Given the description of an element on the screen output the (x, y) to click on. 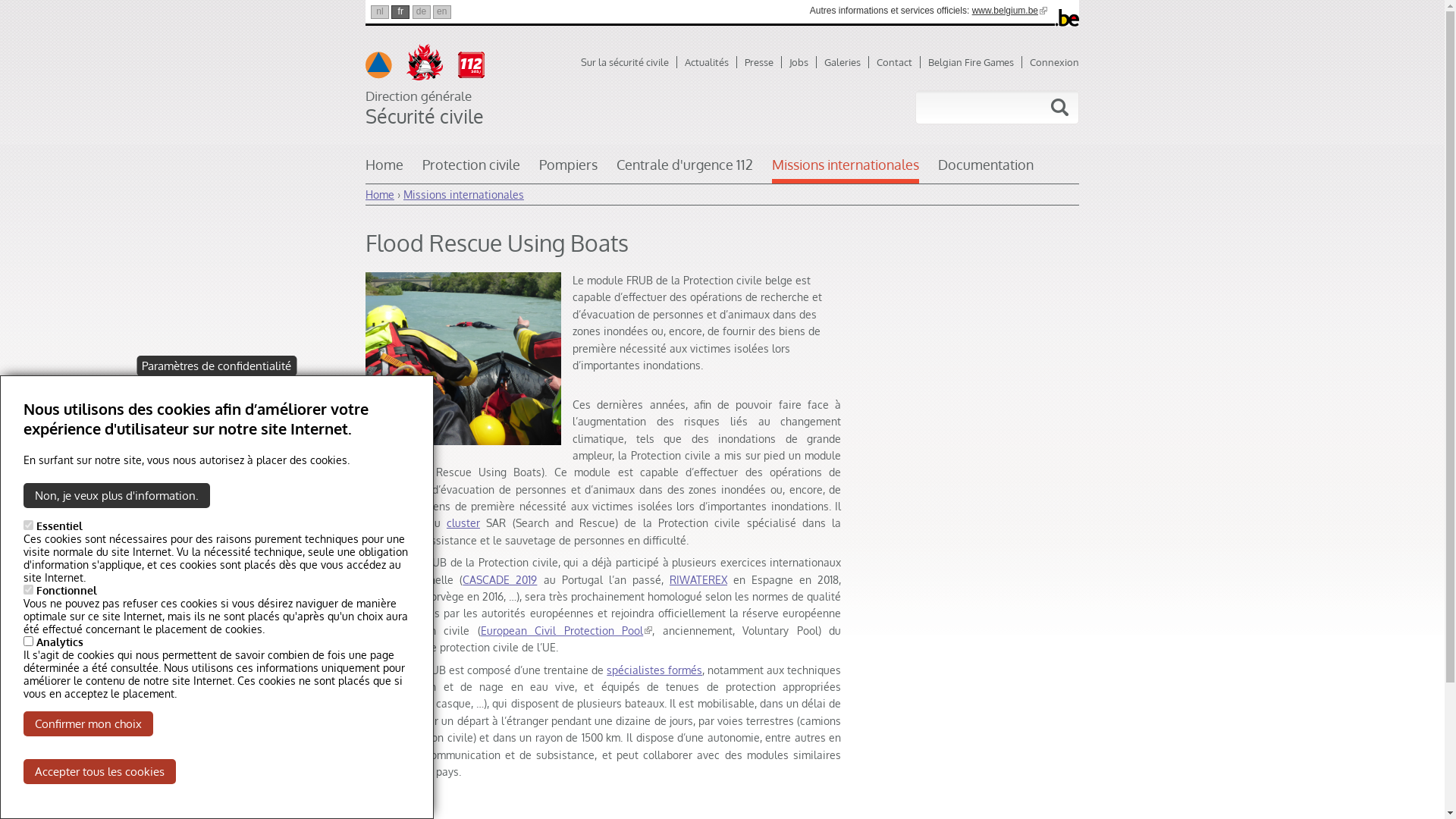
Home Element type: text (384, 169)
Rechercher Element type: text (1059, 107)
Contact Element type: text (898, 62)
CASCADE 2019 Element type: text (499, 579)
cluster Element type: text (463, 522)
Accepter tous les cookies Element type: text (99, 771)
Jobs Element type: text (802, 62)
TRIPLEX Element type: text (384, 595)
Connexion Element type: text (1054, 62)
www.belgium.be
(link is external) Element type: text (1009, 10)
Documentation Element type: text (985, 169)
Centrale d'urgence 112 Element type: text (684, 169)
Confirmer mon choix Element type: text (88, 723)
RIWATEREX Element type: text (698, 579)
Home Element type: text (379, 194)
European Civil Protection Pool
(link is external) Element type: text (566, 630)
en Element type: text (442, 11)
Presse Element type: text (762, 62)
Belgian Fire Games Element type: text (975, 62)
Galeries Element type: text (846, 62)
Missions internationales Element type: text (463, 194)
Missions internationales Element type: text (845, 169)
nl Element type: text (379, 11)
fr Element type: text (400, 11)
Pompiers Element type: text (568, 169)
de Element type: text (421, 11)
Saisissez les termes que vous voulez rechercher. Element type: hover (965, 107)
Protection civile Element type: text (471, 169)
Non, je veux plus d'information. Element type: text (116, 495)
